Given the description of an element on the screen output the (x, y) to click on. 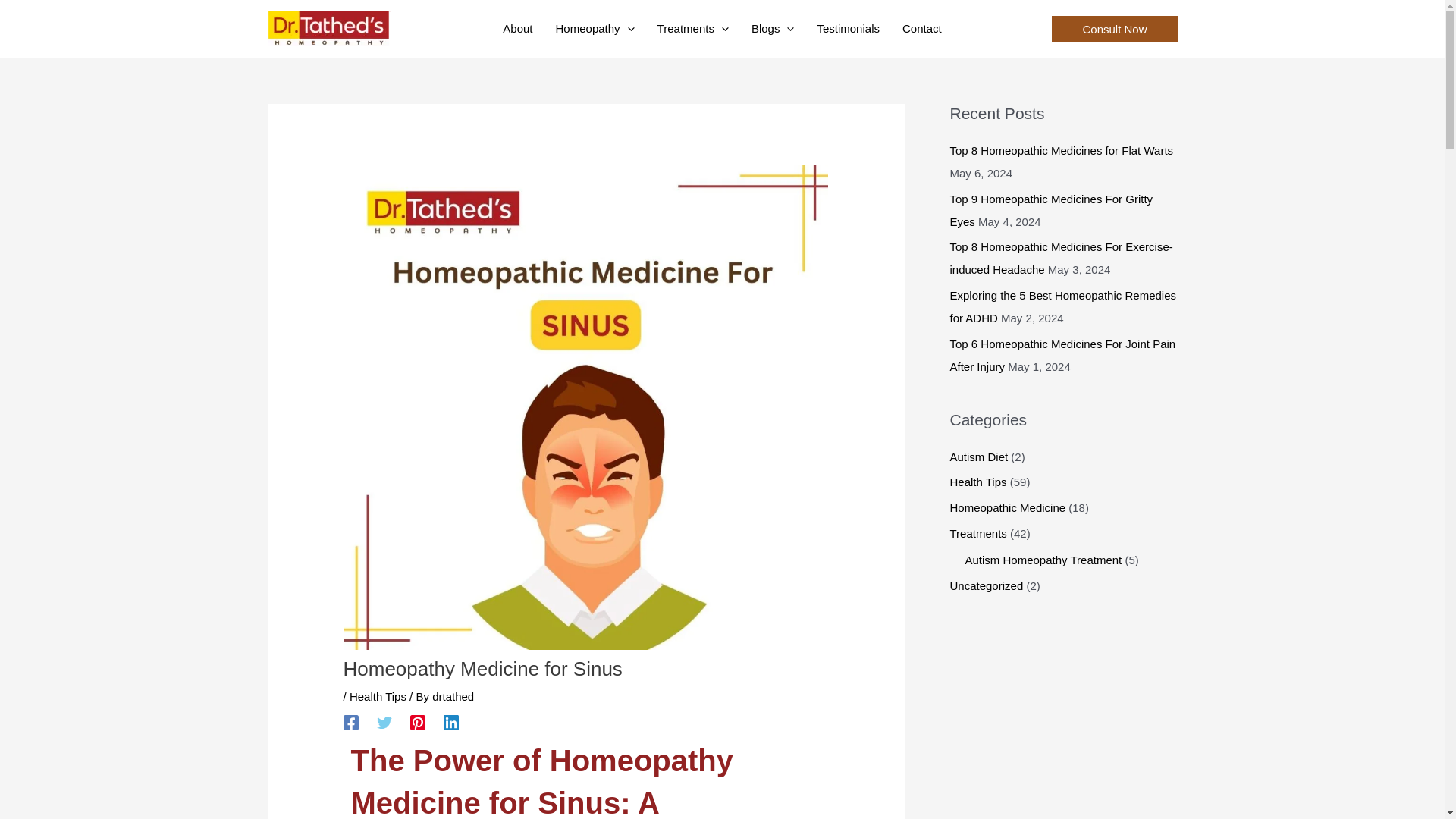
Treatments (692, 28)
About (517, 28)
Homeopathy (595, 28)
View all posts by drtathed (453, 696)
